Given the description of an element on the screen output the (x, y) to click on. 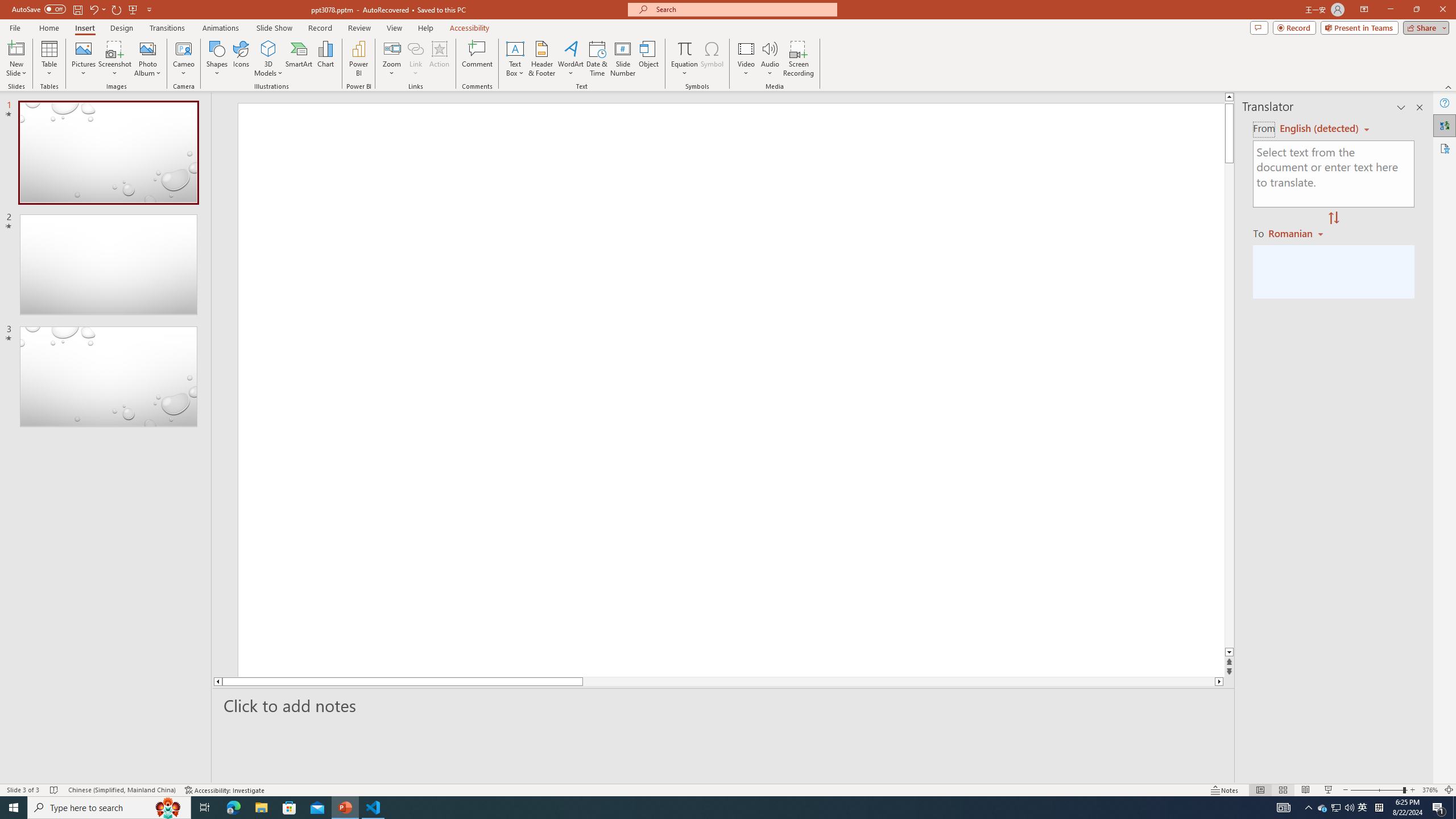
3D Models (268, 58)
An abstract genetic concept (731, 396)
Symbol... (711, 58)
